Given the description of an element on the screen output the (x, y) to click on. 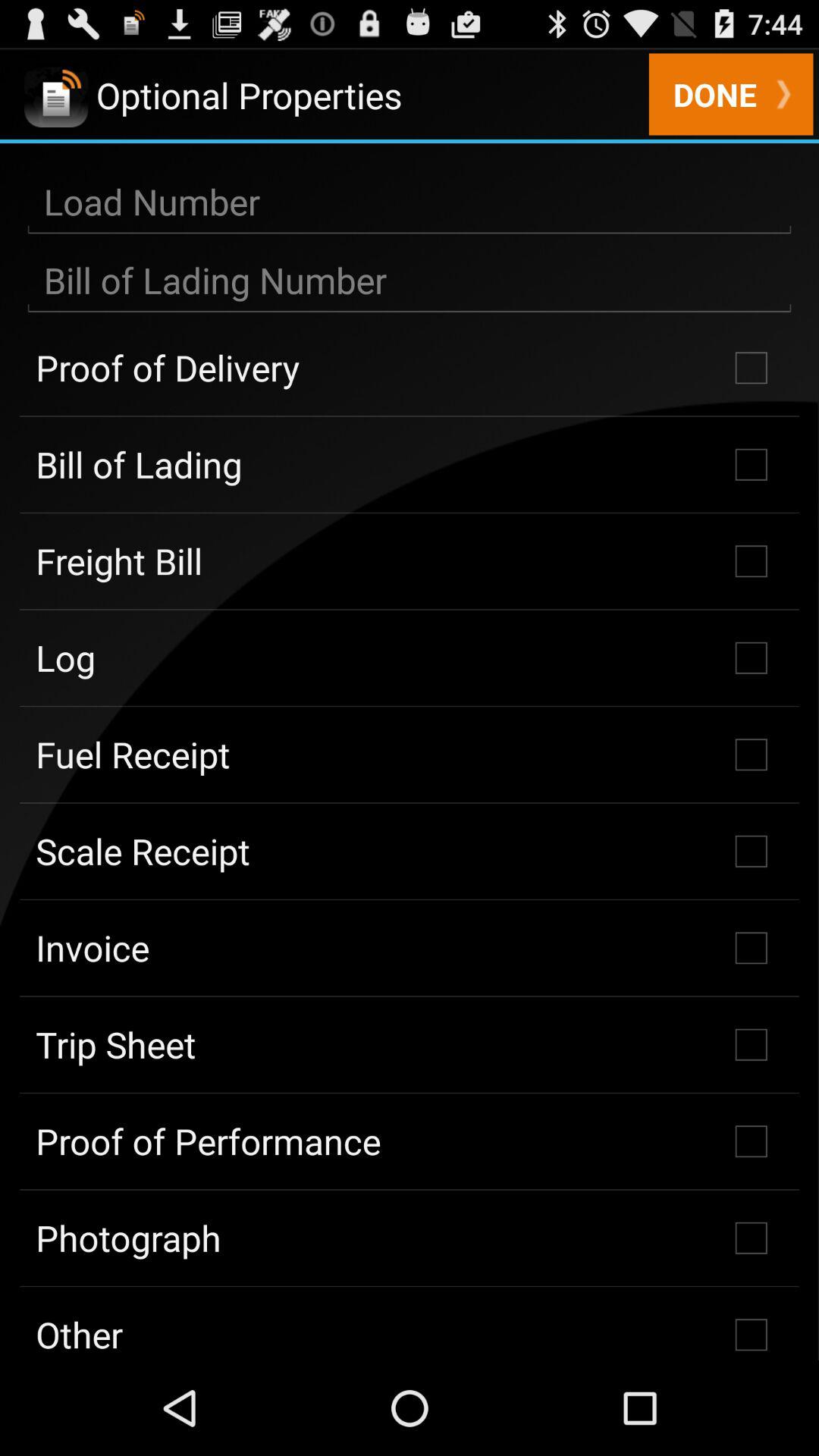
scroll to log item (409, 657)
